Given the description of an element on the screen output the (x, y) to click on. 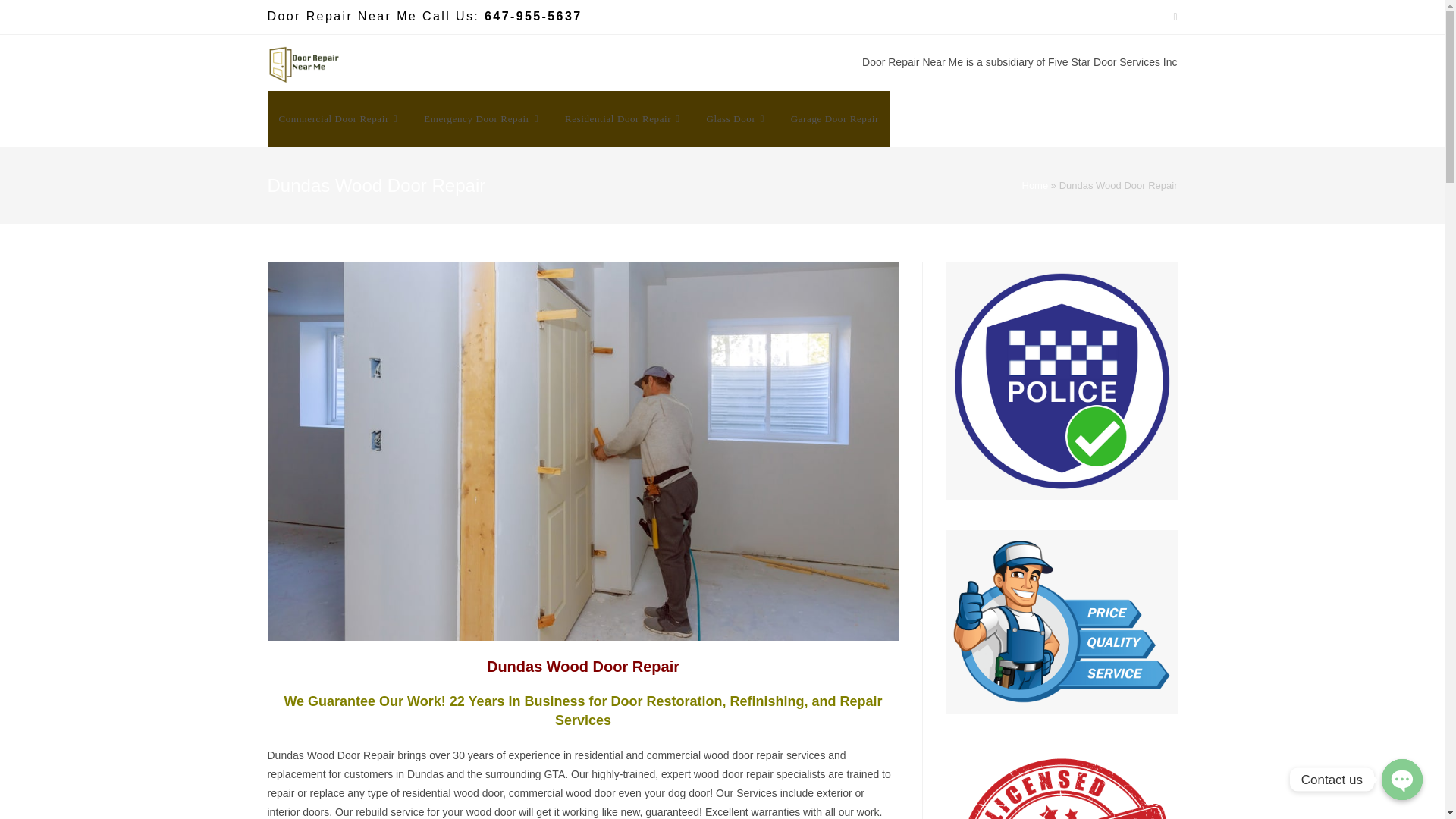
Garage Door Repair (833, 118)
Emergency Door Repair (482, 118)
Commercial Door Repair (339, 118)
647-955-5637 (532, 15)
Residential Door Repair (624, 118)
Glass Door (736, 118)
